Given the description of an element on the screen output the (x, y) to click on. 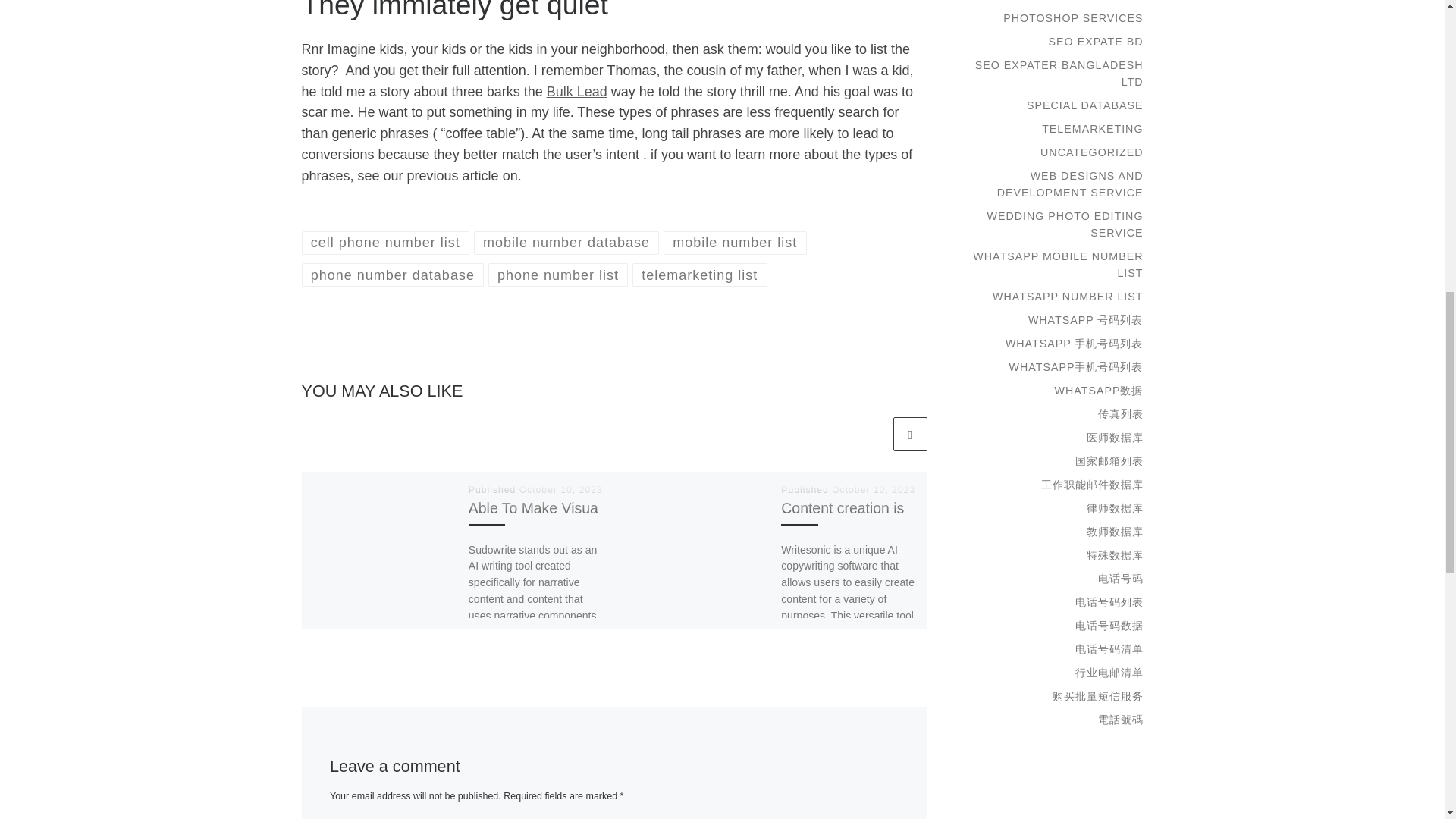
Bulk Lead (577, 91)
View all posts in mobile number database (566, 242)
View all posts in telemarketing list (699, 274)
Able To Make Visua (533, 507)
telemarketing list (699, 274)
View all posts in phone number database (392, 274)
cell phone number list (385, 242)
phone number database (392, 274)
View all posts in phone number list (557, 274)
Previous related articles (872, 433)
